Given the description of an element on the screen output the (x, y) to click on. 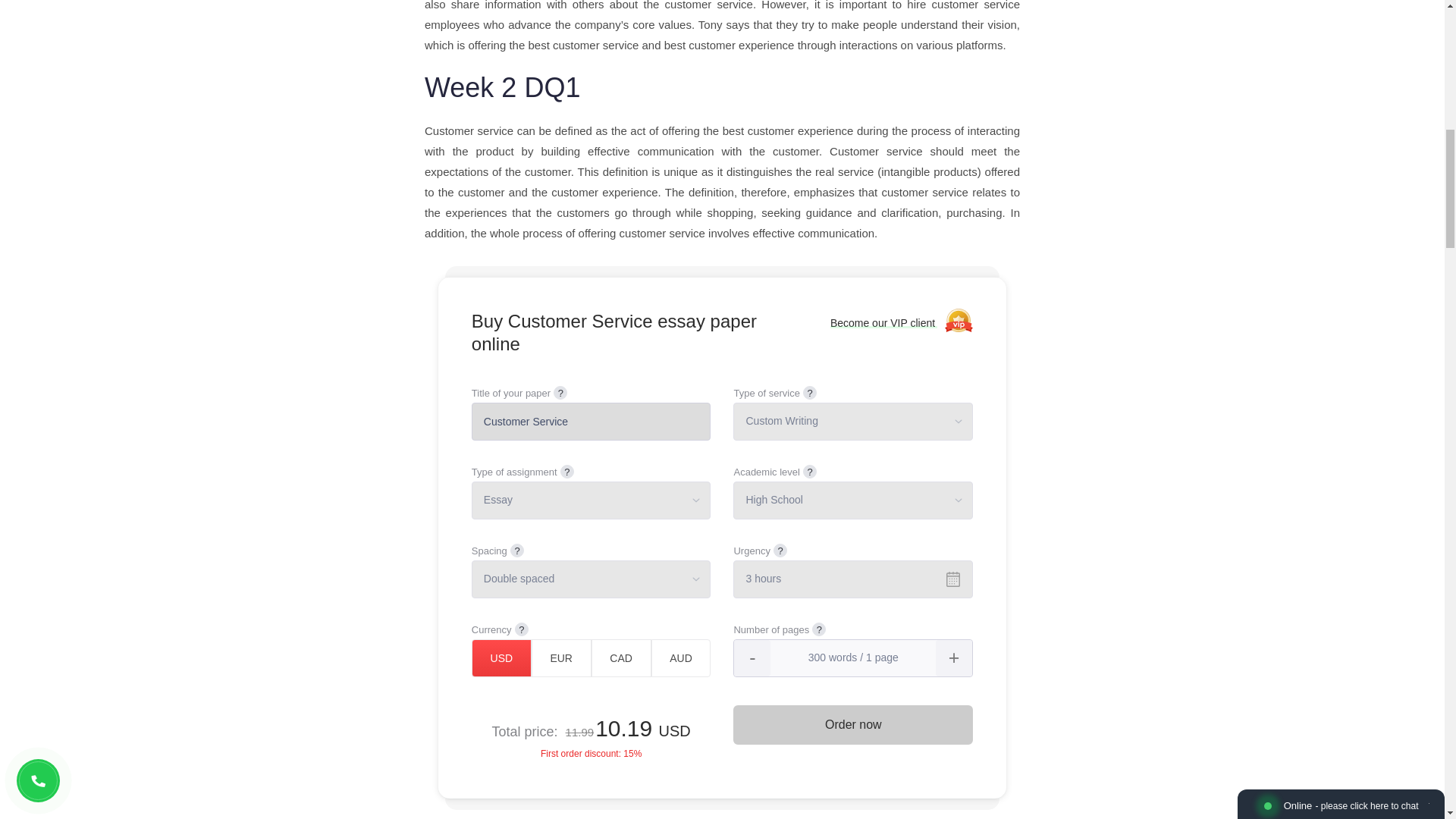
- (751, 657)
Customer Service (591, 421)
Order now (852, 724)
EUR (561, 658)
USD (501, 658)
CAD (620, 658)
AUD (680, 658)
